Given the description of an element on the screen output the (x, y) to click on. 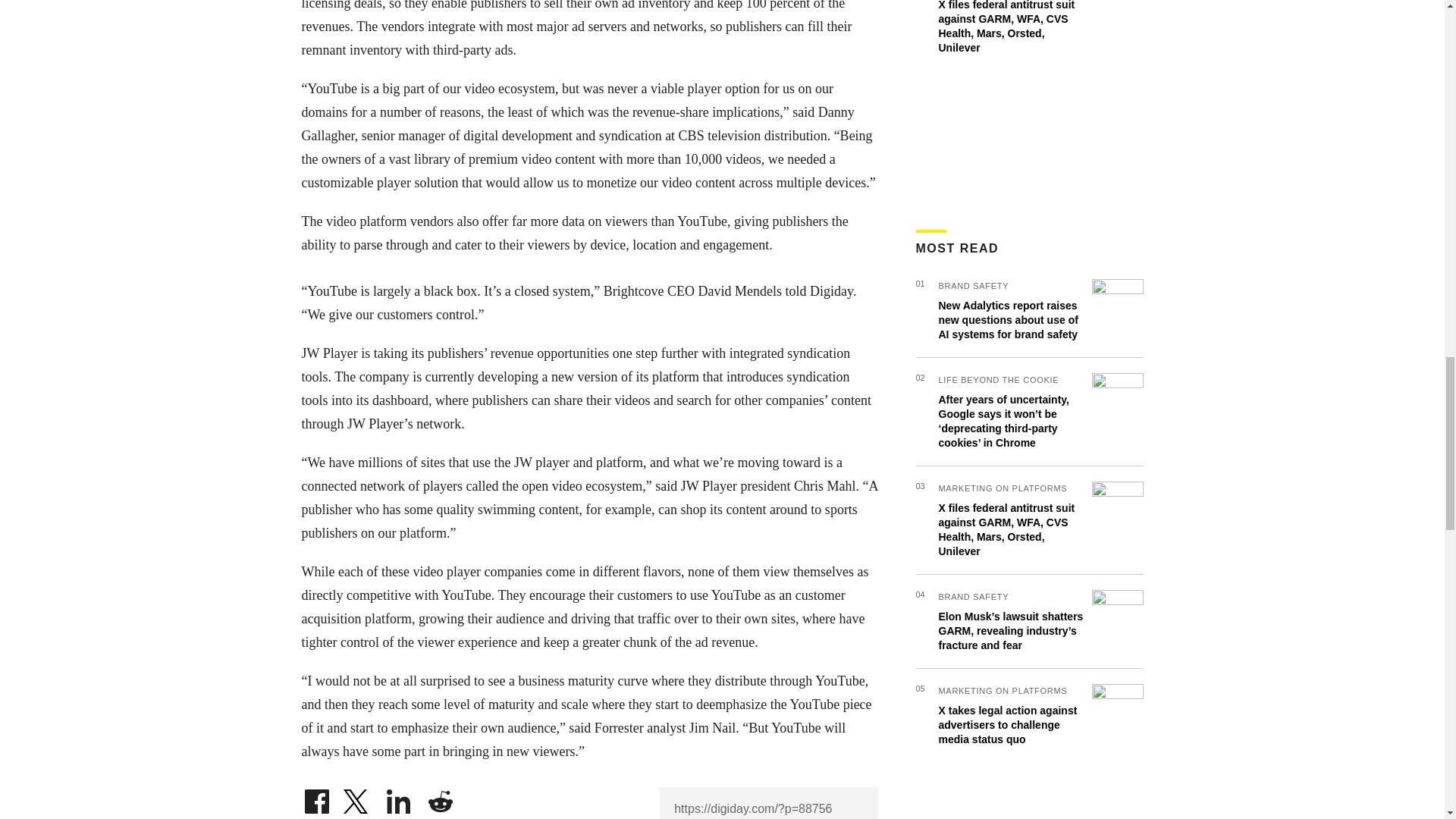
Share on Facebook (316, 797)
Share on LinkedIn (398, 797)
Share on Reddit (440, 797)
Share on Twitter (357, 797)
